Given the description of an element on the screen output the (x, y) to click on. 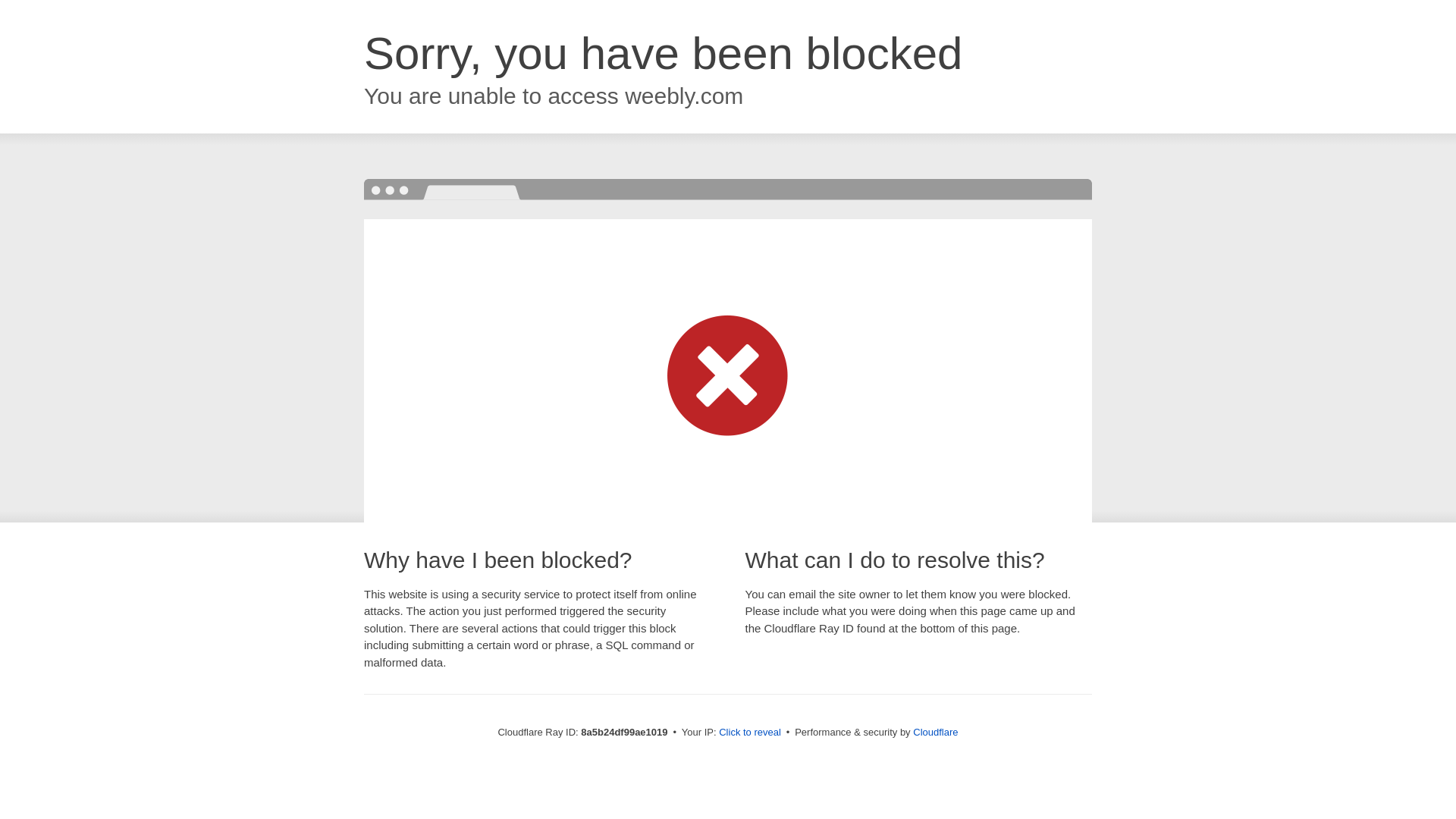
Cloudflare (935, 731)
Click to reveal (749, 732)
